Given the description of an element on the screen output the (x, y) to click on. 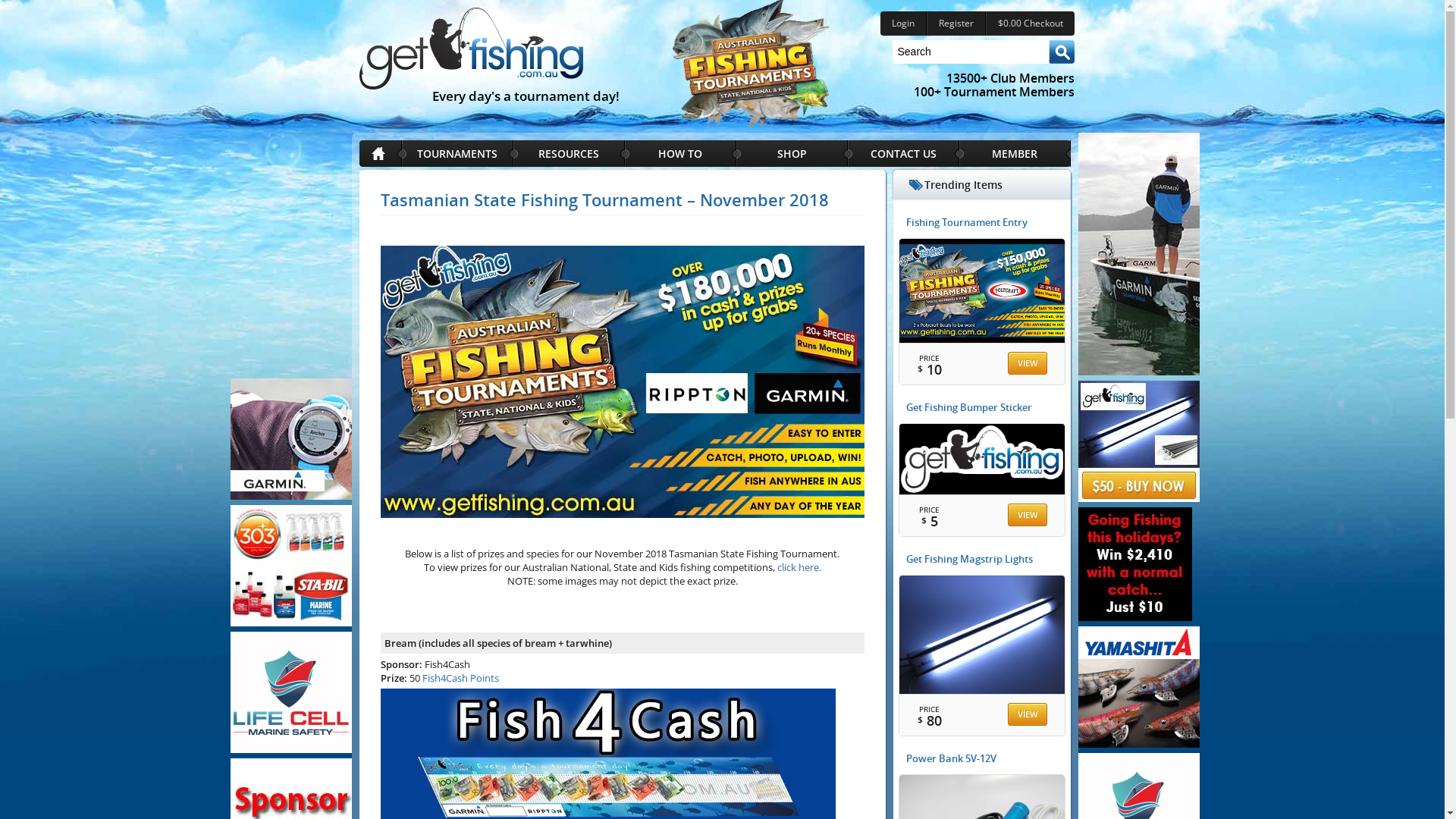
RESOURCES Element type: text (568, 153)
VIEW Element type: text (1027, 514)
CONTACT US Element type: text (903, 153)
VIEW Element type: text (1027, 713)
click here. Element type: text (799, 567)
HOME Element type: text (380, 153)
Fish4Cash Points Element type: text (460, 677)
TOURNAMENTS Element type: text (457, 153)
VIEW Element type: text (1027, 362)
Get Fishing Bumper Sticker Element type: text (982, 447)
Get Fishing Magstrip Lights Element type: text (982, 623)
Every day's a tournament day! Element type: text (474, 55)
Advertisement Element type: hover (290, 253)
MEMBER Element type: text (1014, 153)
$0.00 Checkout Element type: text (1029, 23)
SHOP Element type: text (791, 153)
HOW TO Element type: text (680, 153)
Login Element type: text (902, 23)
Register Element type: text (955, 23)
Fishing Tournament Entry Element type: text (982, 279)
